Given the description of an element on the screen output the (x, y) to click on. 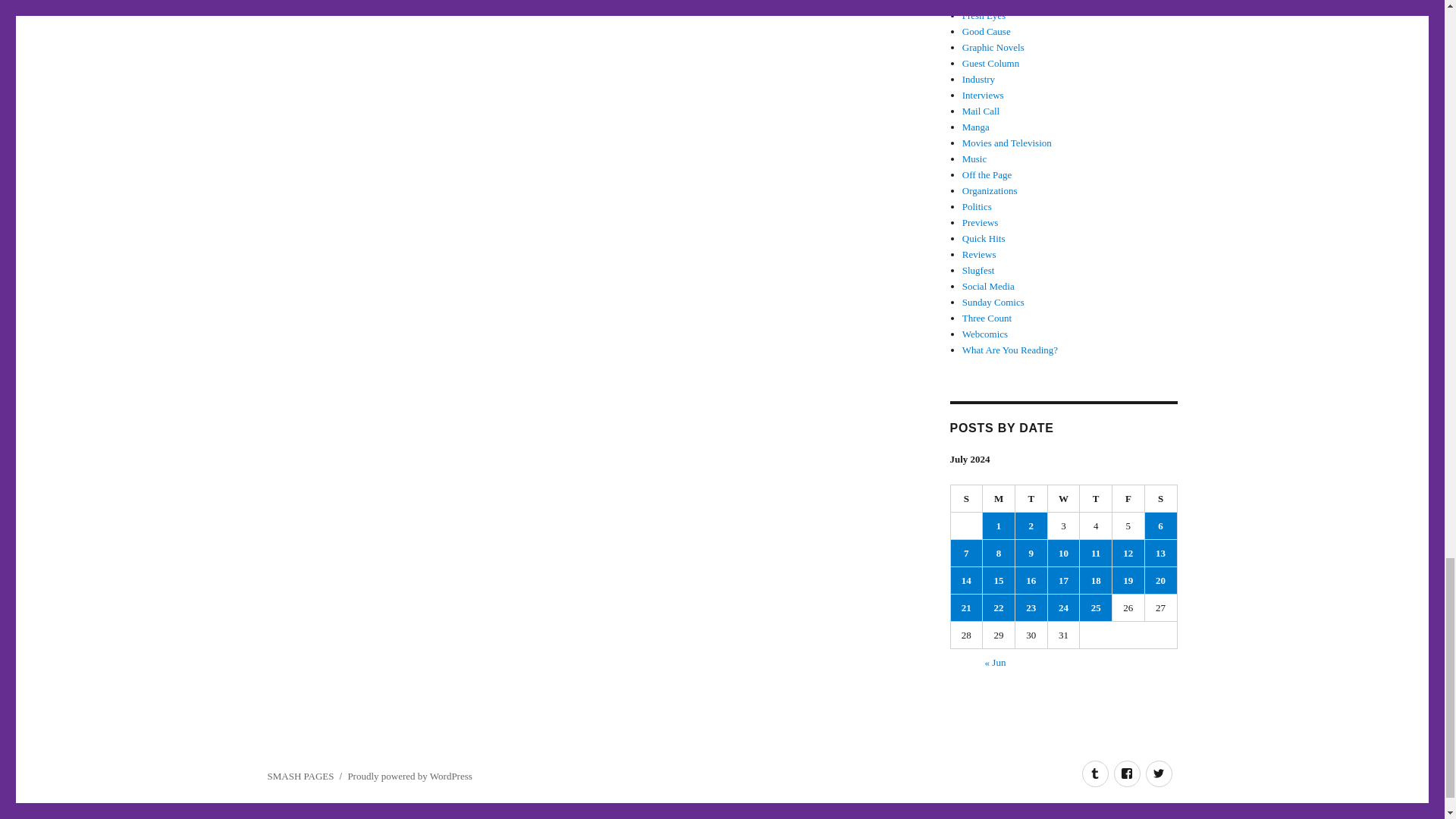
Sunday (967, 498)
Saturday (1160, 498)
Friday (1128, 498)
Wednesday (1064, 498)
Tuesday (1031, 498)
Thursday (1096, 498)
Monday (998, 498)
